Given the description of an element on the screen output the (x, y) to click on. 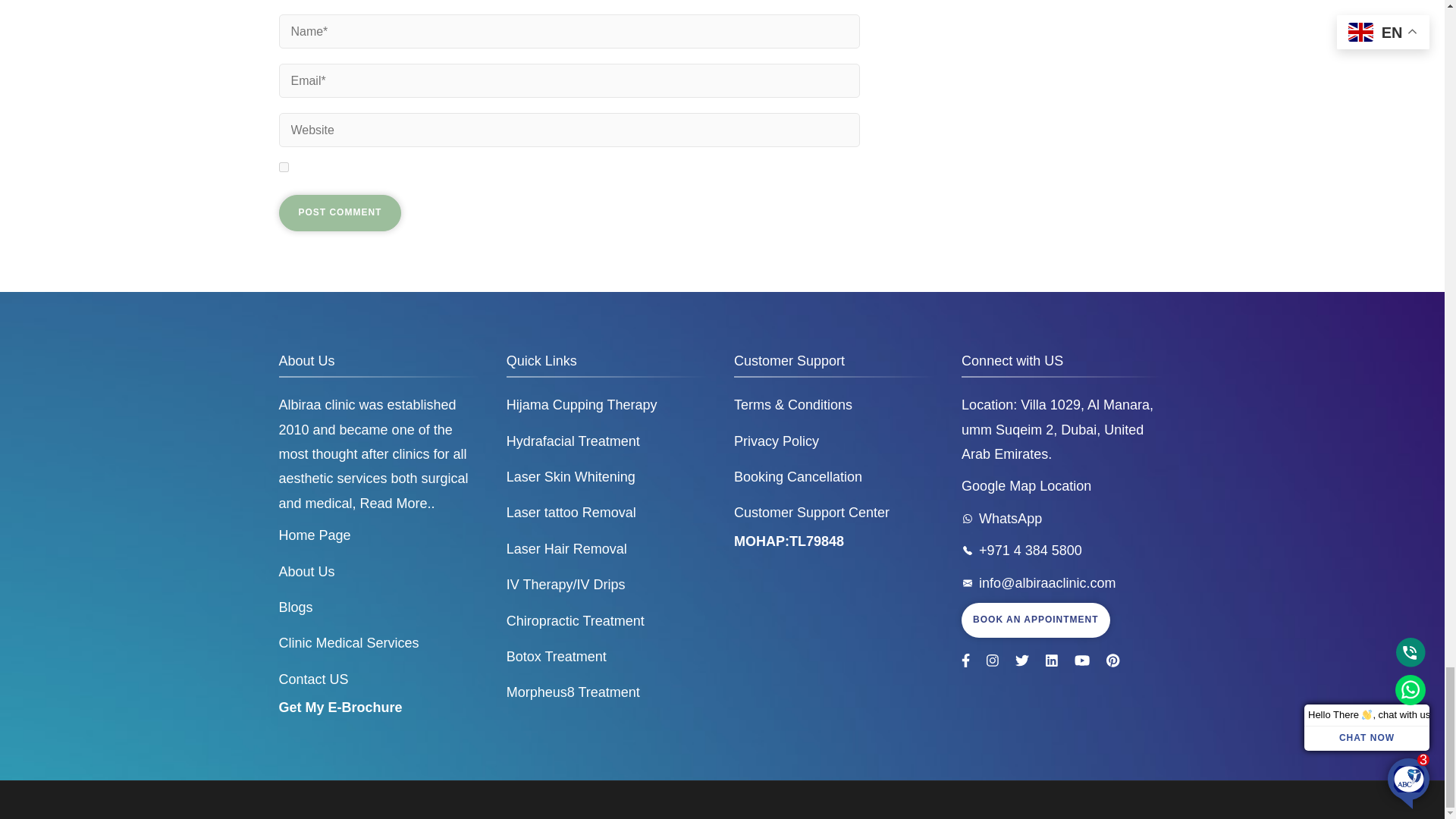
Post Comment (340, 212)
1 (283, 166)
